Given the description of an element on the screen output the (x, y) to click on. 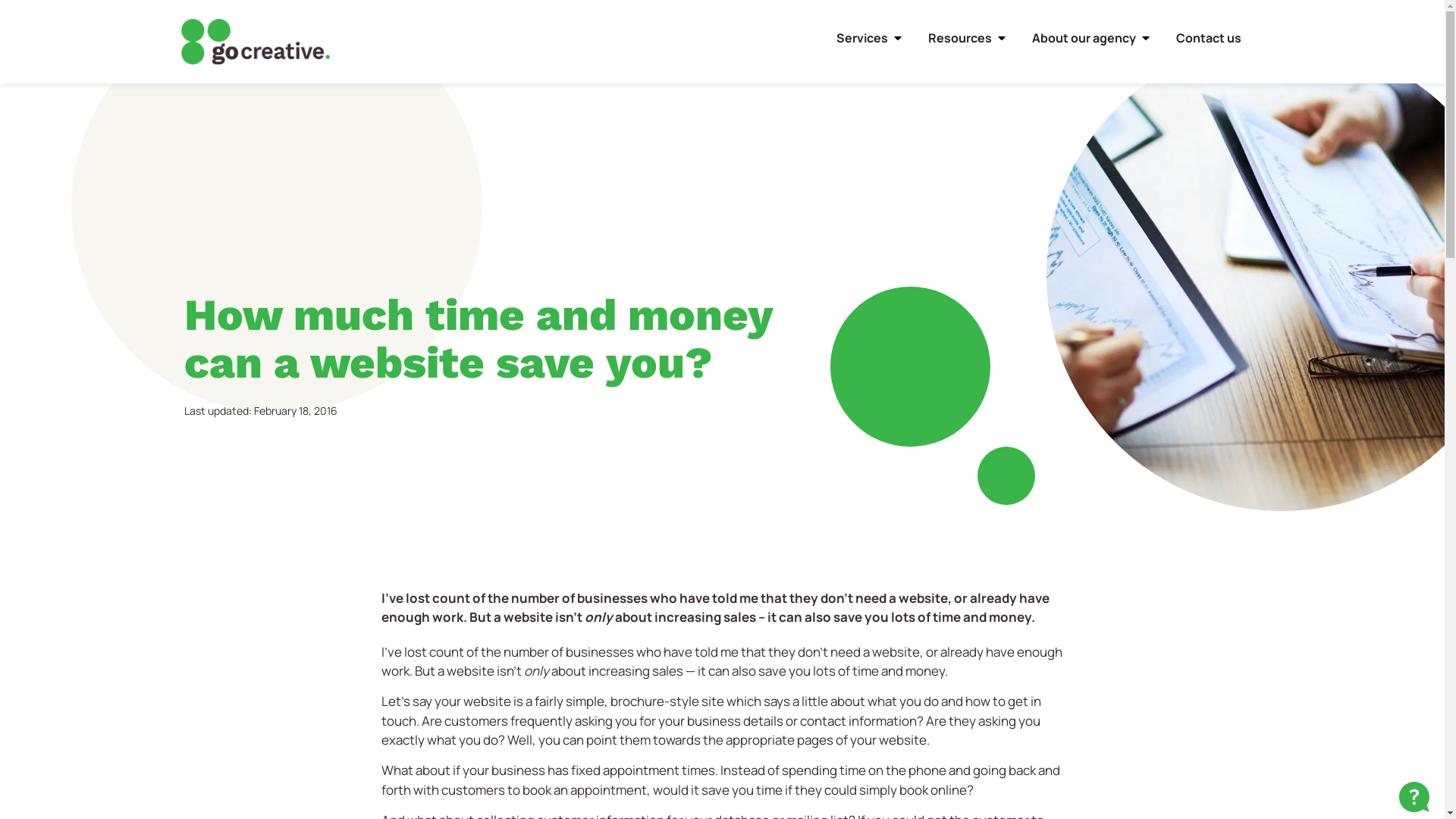
Contact us Element type: text (1207, 37)
Resources Element type: text (959, 37)
Services Element type: text (861, 37)
About our agency Element type: text (1083, 37)
